Given the description of an element on the screen output the (x, y) to click on. 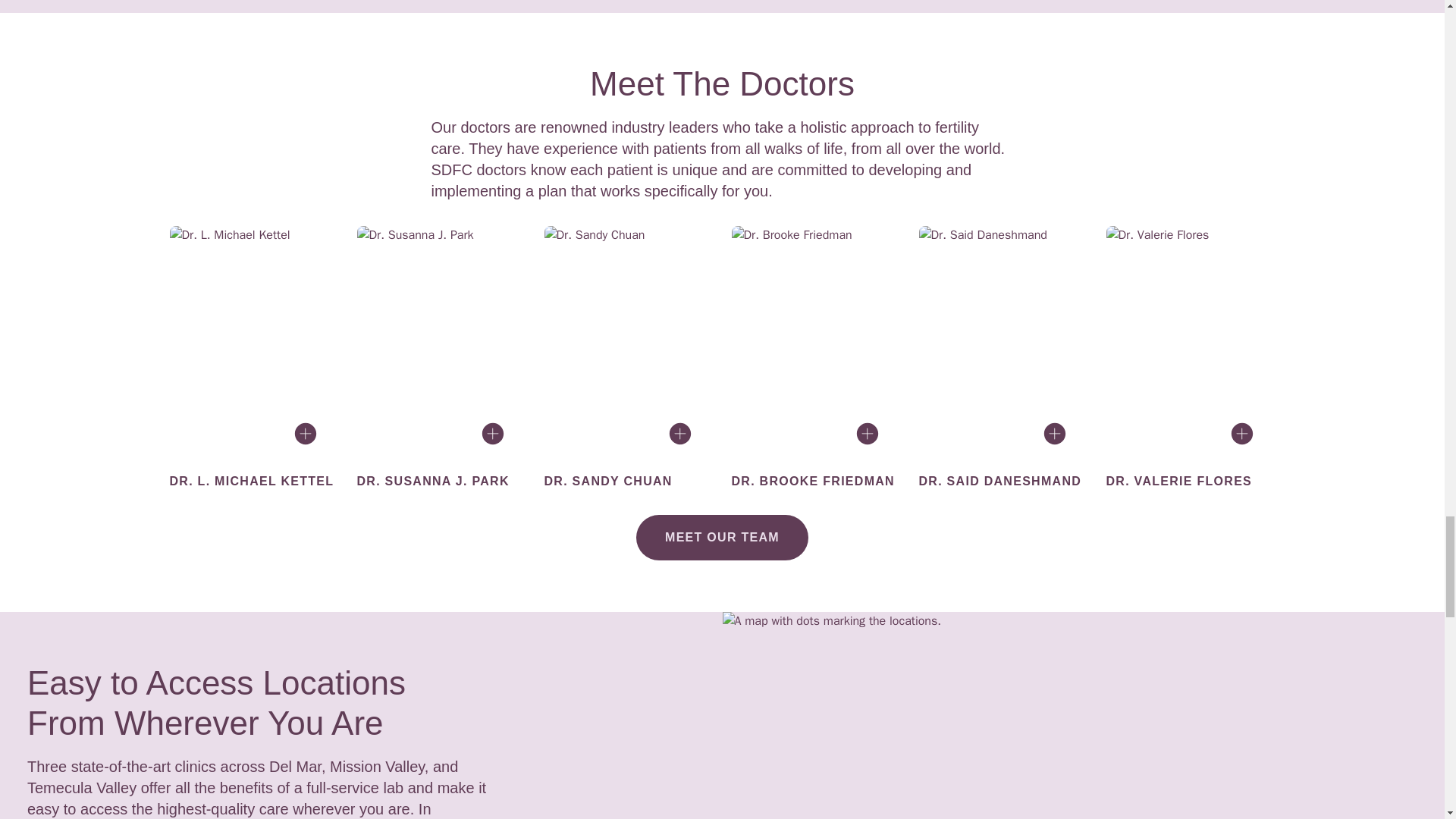
MEET OUR TEAM (722, 537)
LEARN MORE (628, 439)
LEARN MORE (440, 439)
LEARN MORE (1003, 439)
LEARN MORE (815, 439)
LEARN MORE (253, 439)
LEARN MORE (1189, 439)
